Given the description of an element on the screen output the (x, y) to click on. 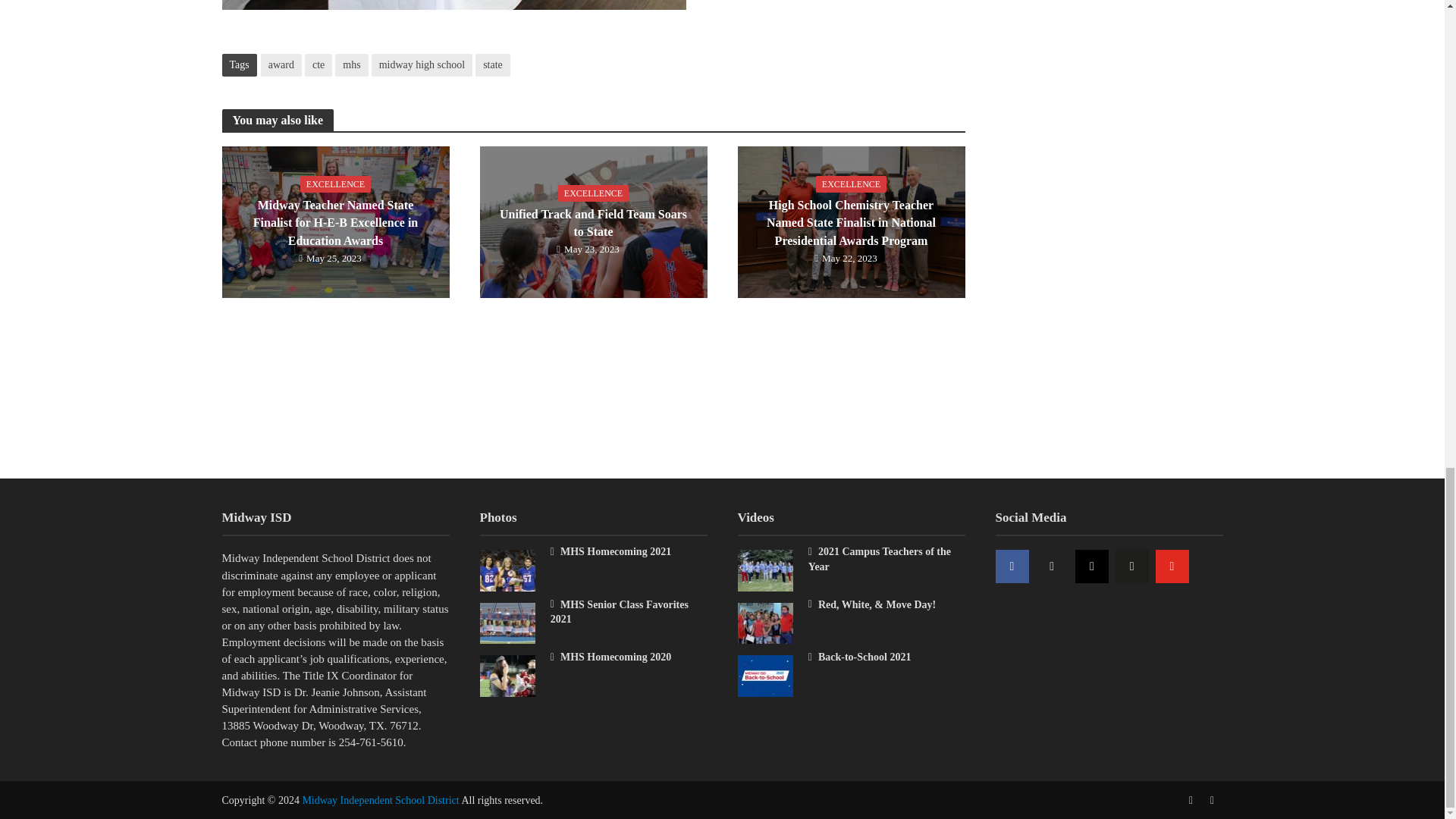
cte (317, 65)
MHS Homecoming 2021 (506, 569)
YouTube (1172, 566)
midway high school (422, 65)
Unified Track and Field Team Soars to State (592, 220)
Facebook (1010, 566)
state (493, 65)
Back-to-School 2021 (764, 674)
MHS Homecoming 2020 (506, 674)
2021 Campus Teachers of the Year (764, 569)
award (280, 65)
flickr (1131, 566)
EXCELLENCE (335, 184)
